Given the description of an element on the screen output the (x, y) to click on. 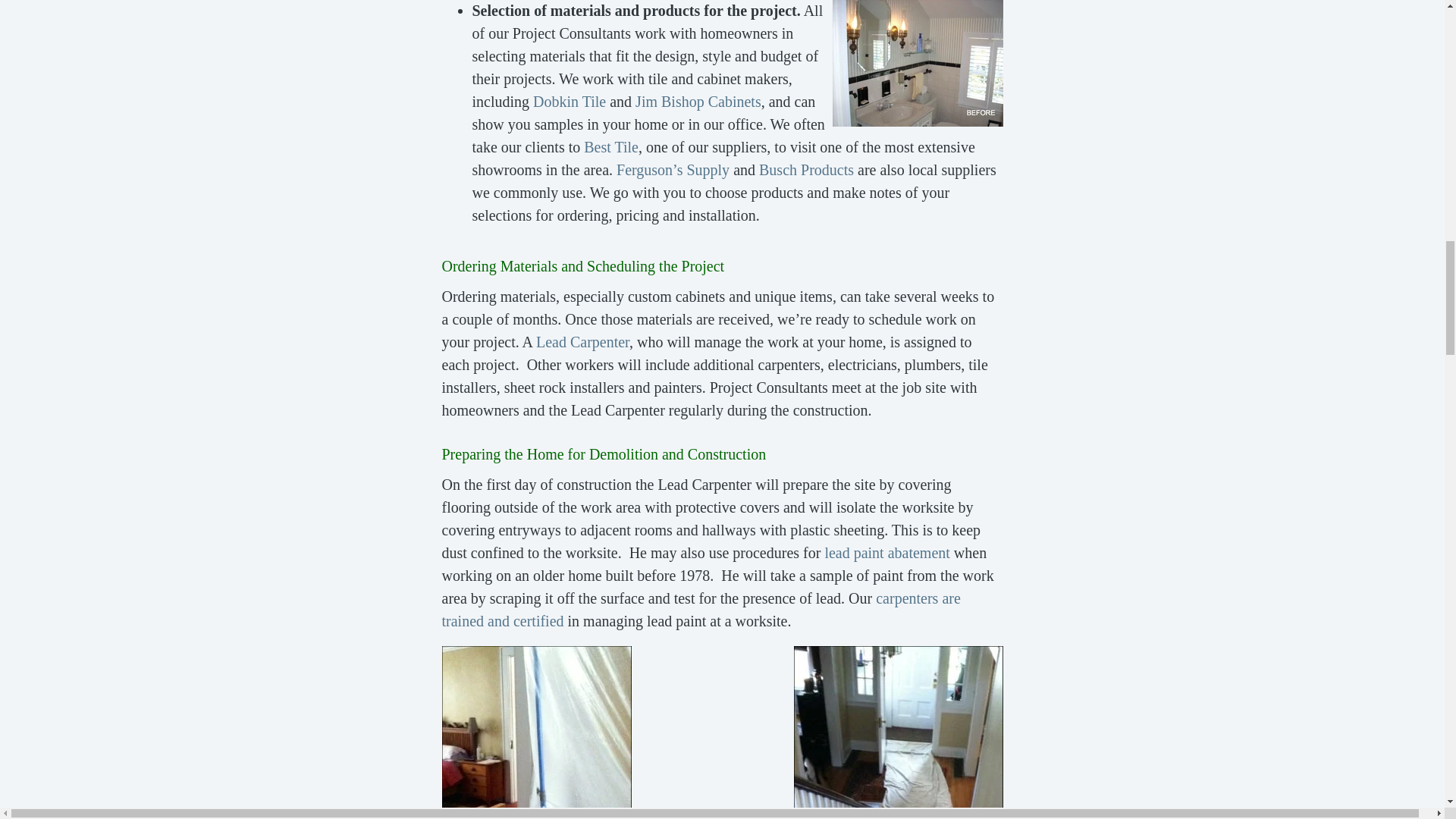
Best Tile (611, 146)
carpenters are trained and certified (700, 609)
lead paint abatement (886, 552)
Lead Carpenter (581, 341)
Dobkin Tile (568, 101)
Busch Products (805, 169)
Jim Bishop Cabinets (697, 101)
